Given the description of an element on the screen output the (x, y) to click on. 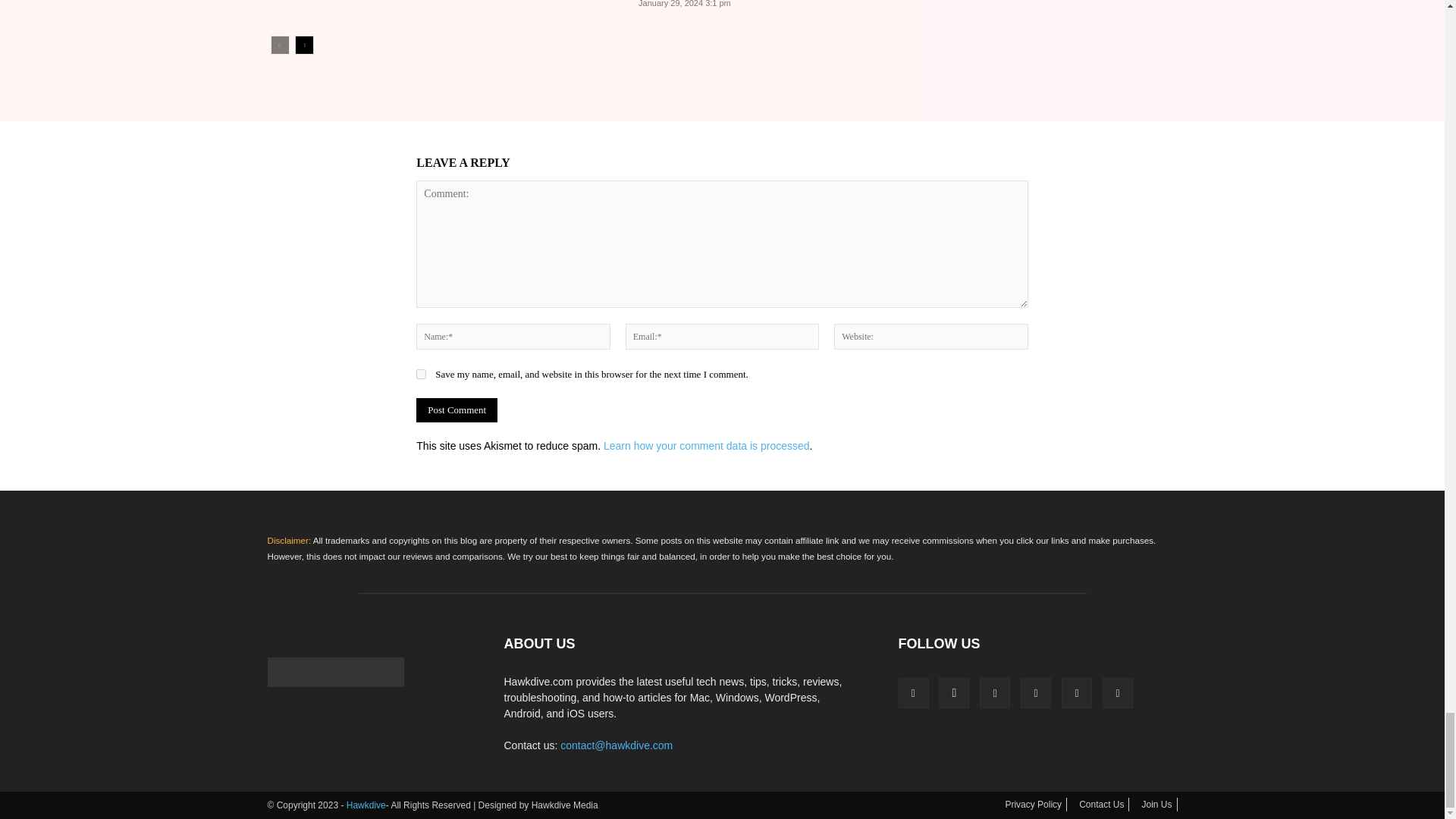
Post Comment (456, 410)
yes (421, 374)
